Given the description of an element on the screen output the (x, y) to click on. 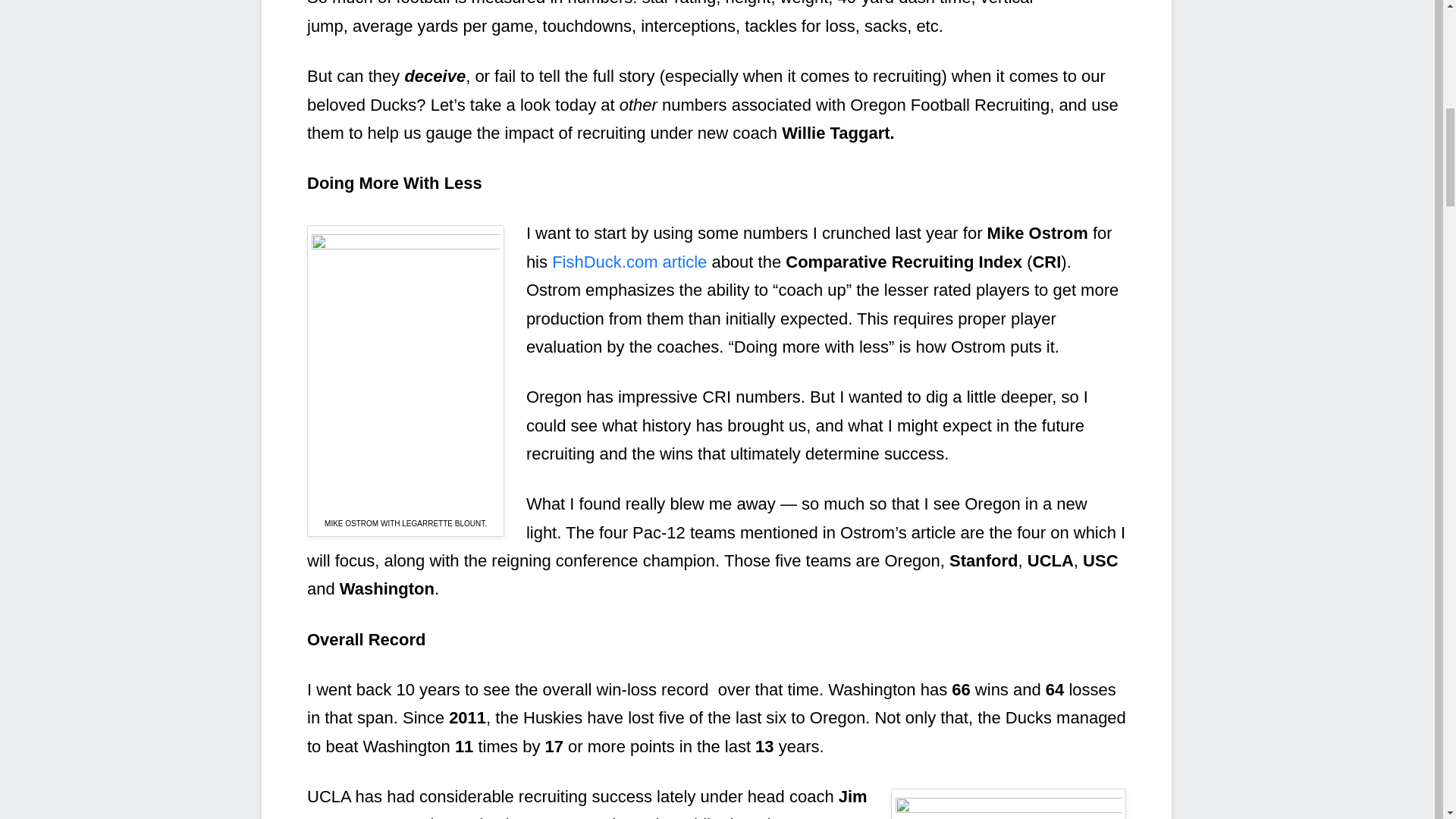
FishDuck.com article (628, 261)
